Given the description of an element on the screen output the (x, y) to click on. 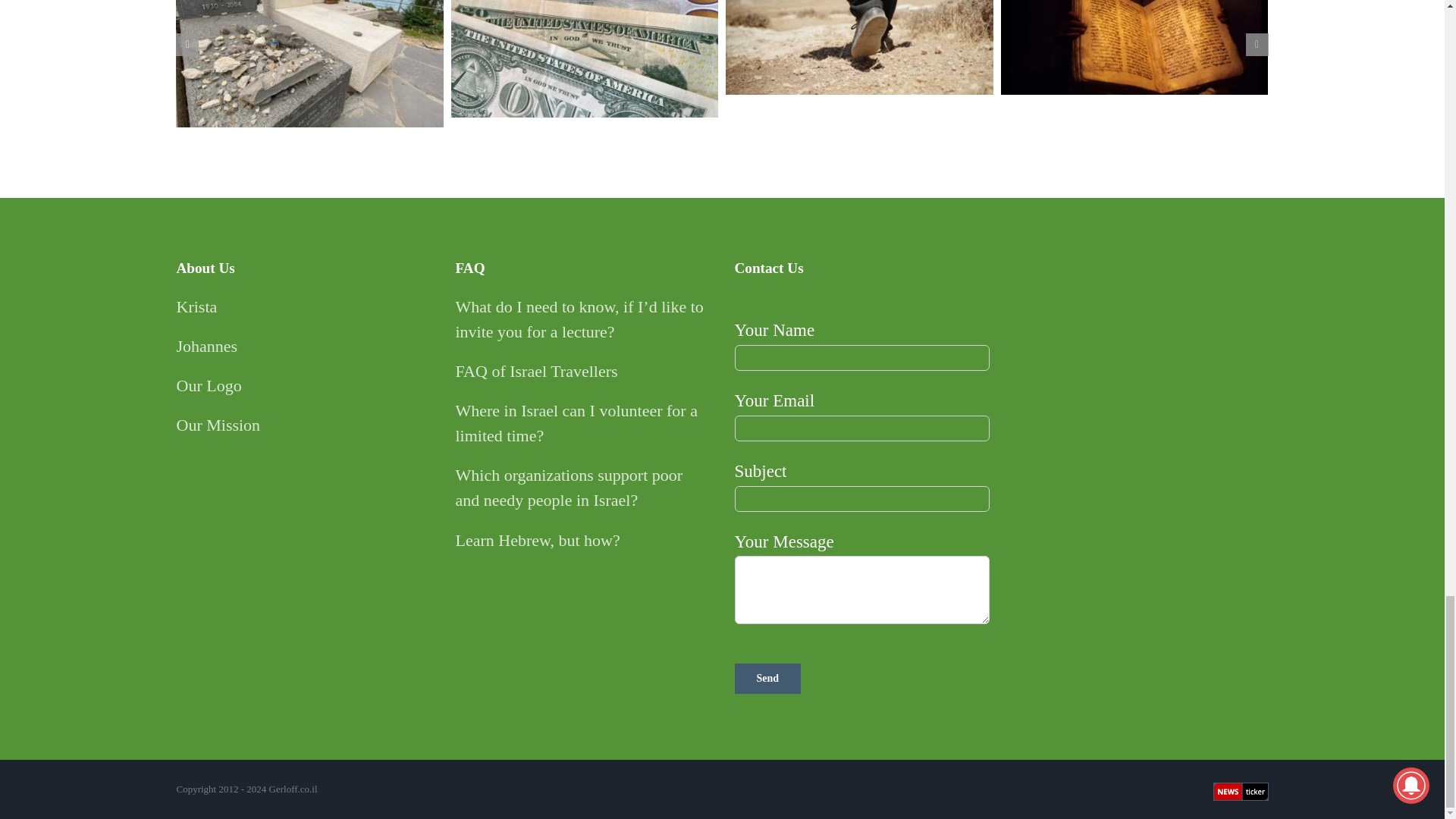
Send (766, 678)
